Given the description of an element on the screen output the (x, y) to click on. 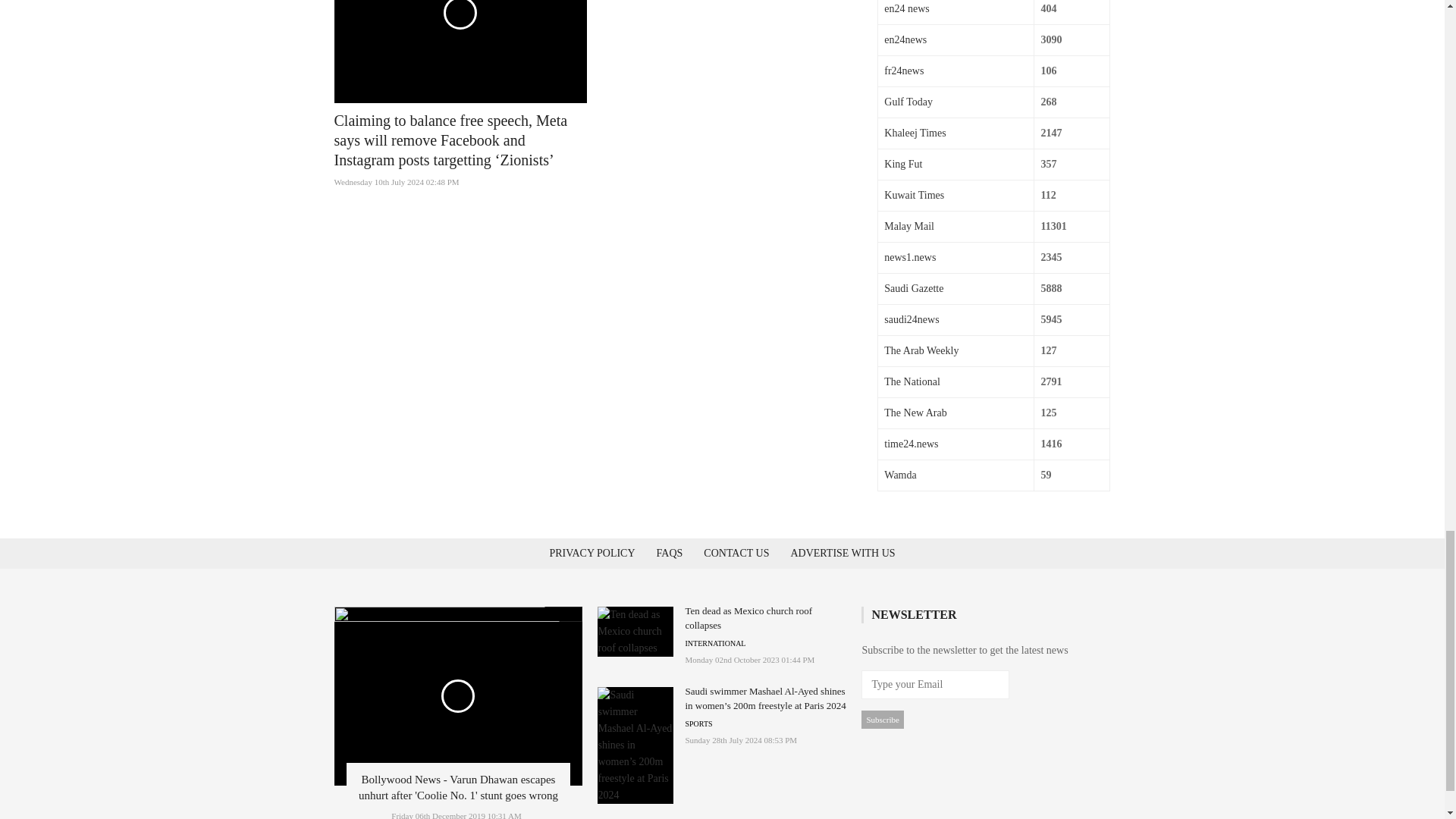
Subscribe (881, 719)
